Given the description of an element on the screen output the (x, y) to click on. 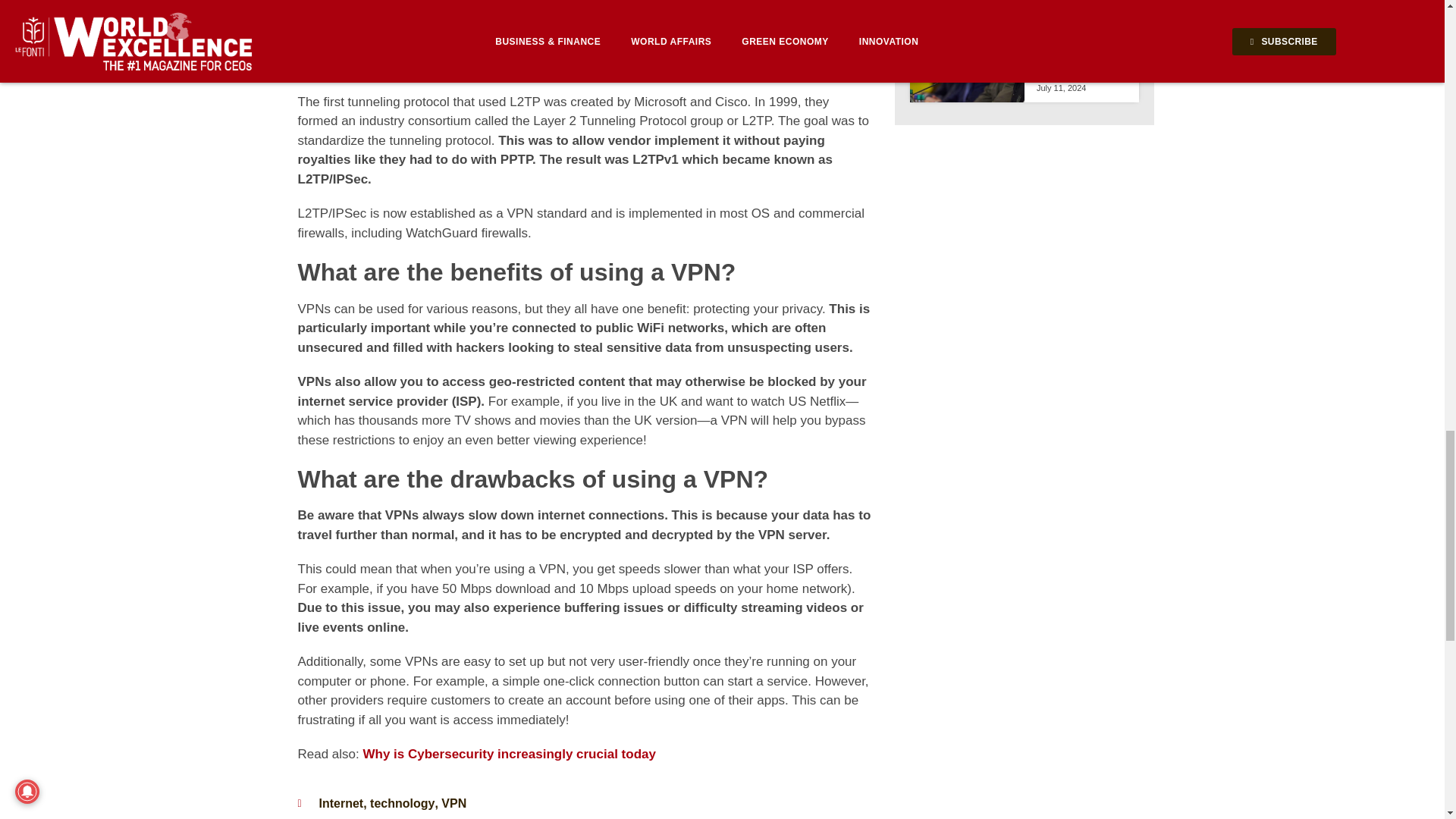
Why is Cybersecurity increasingly crucial today (508, 753)
